Given the description of an element on the screen output the (x, y) to click on. 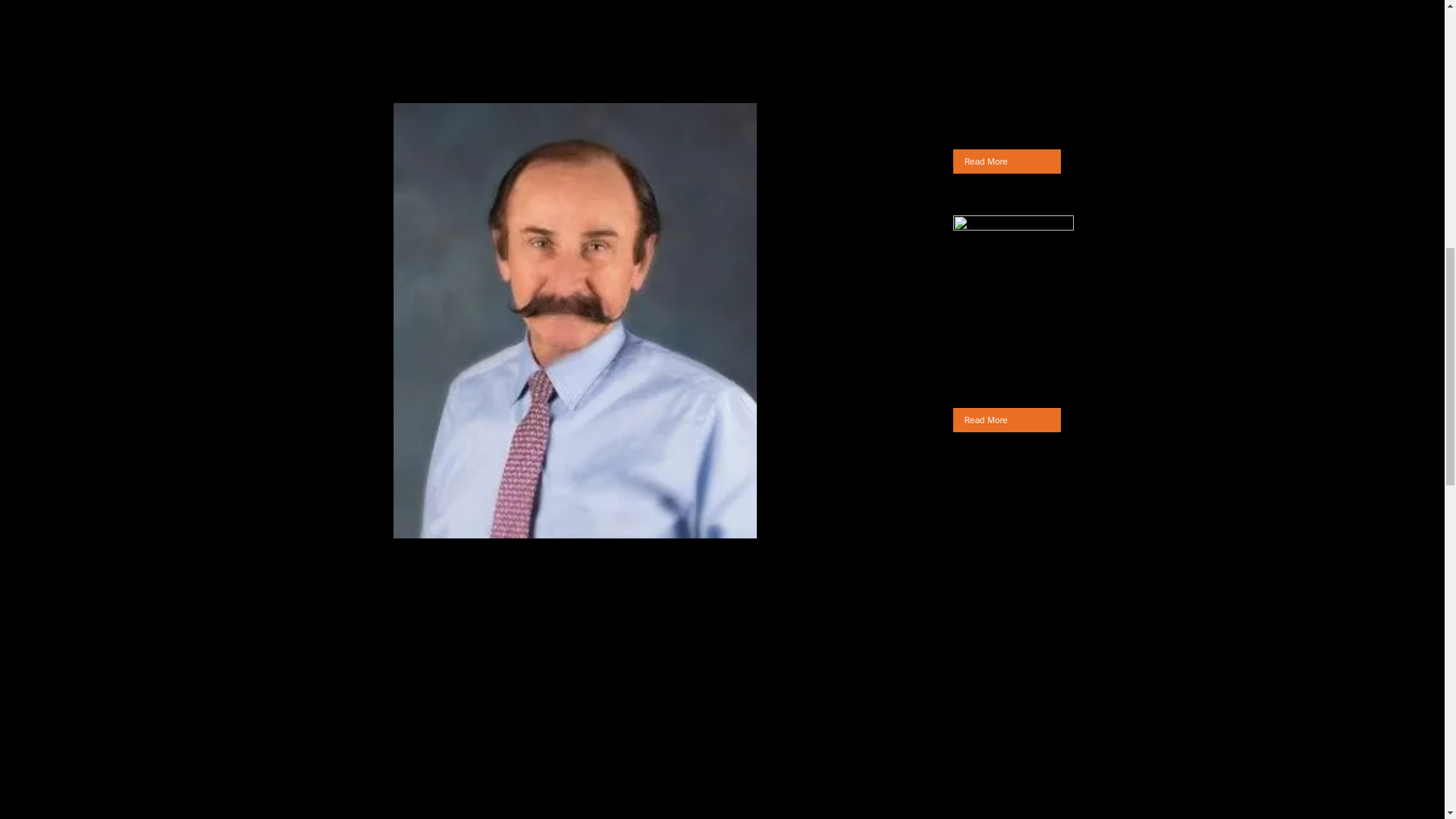
SICK Shuffles Executive Board (1060, 292)
Delta Launches MH300 AC Motor Drive in EMEA (1073, 40)
